Given the description of an element on the screen output the (x, y) to click on. 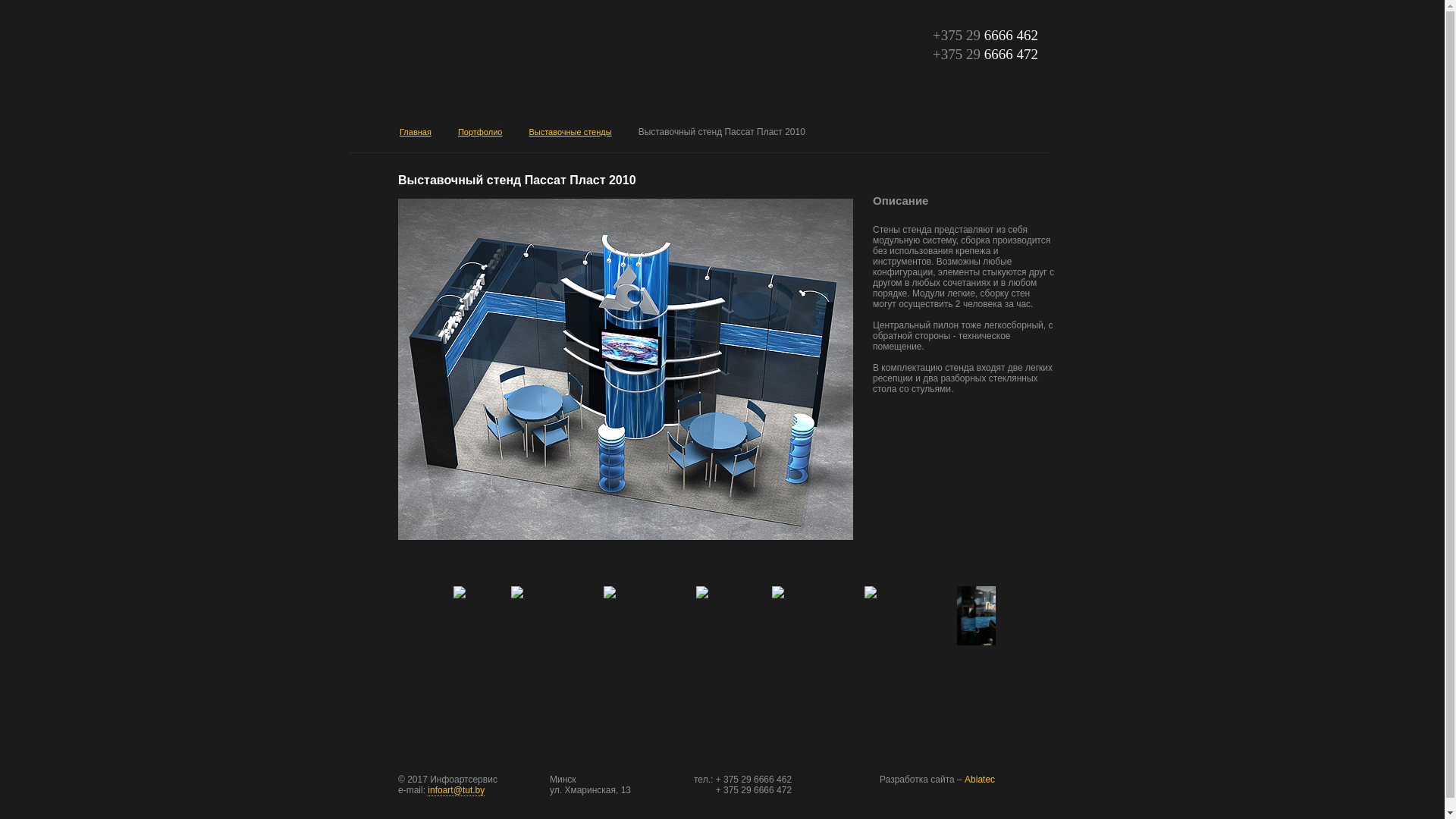
infoart@tut.by Element type: text (455, 790)
